Given the description of an element on the screen output the (x, y) to click on. 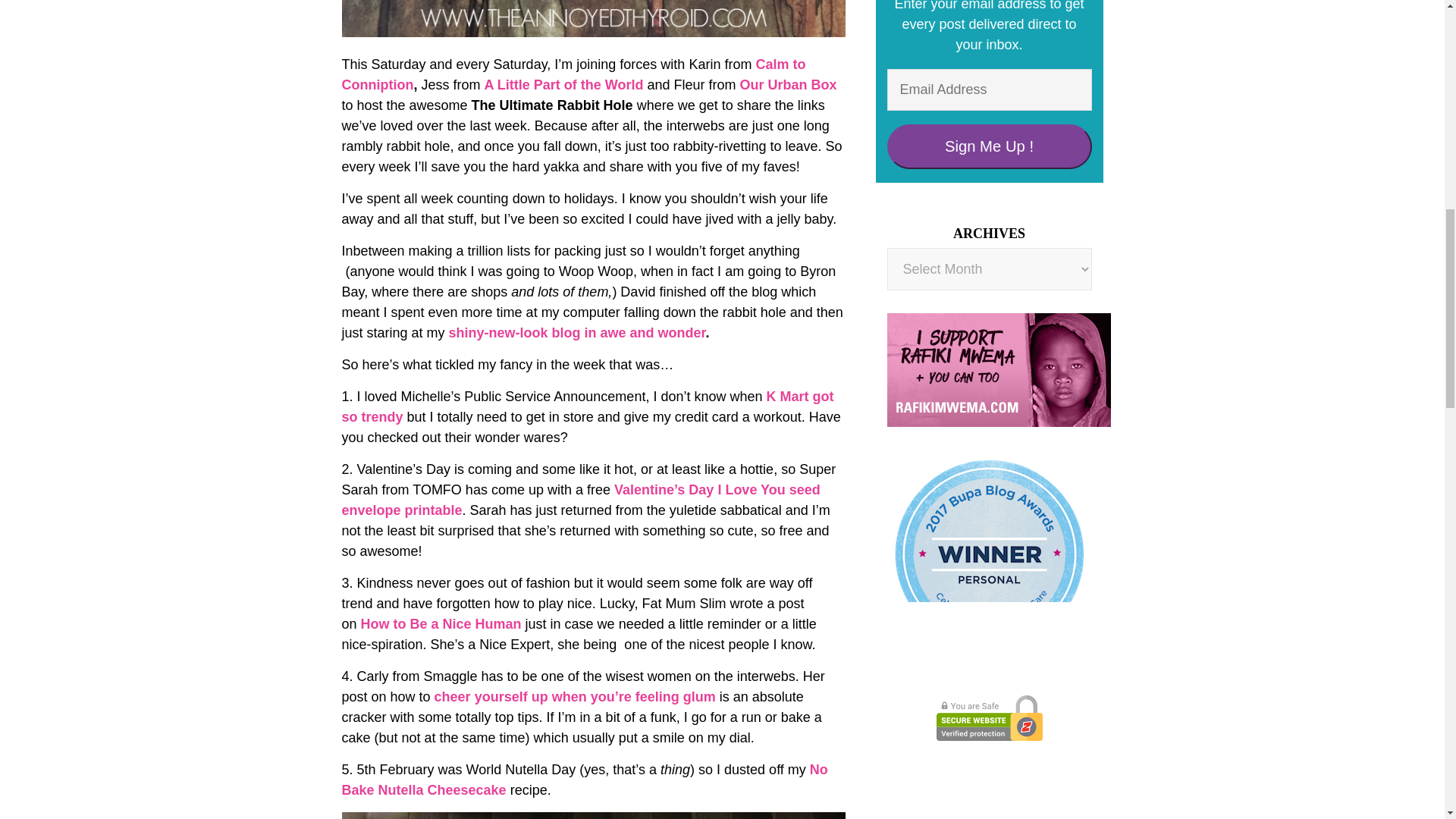
TOMFO (579, 499)
Smaggle (574, 696)
 A Little Part of the World (563, 84)
Gee you're brave (586, 407)
Fat Mum Slim (441, 623)
Thermomix No Bake Nutella Cheesecake (583, 779)
Calm to Conniption (572, 74)
Our Urban Box (788, 84)
A Little Part of the World (563, 84)
Calm to Conniption (572, 74)
